Given the description of an element on the screen output the (x, y) to click on. 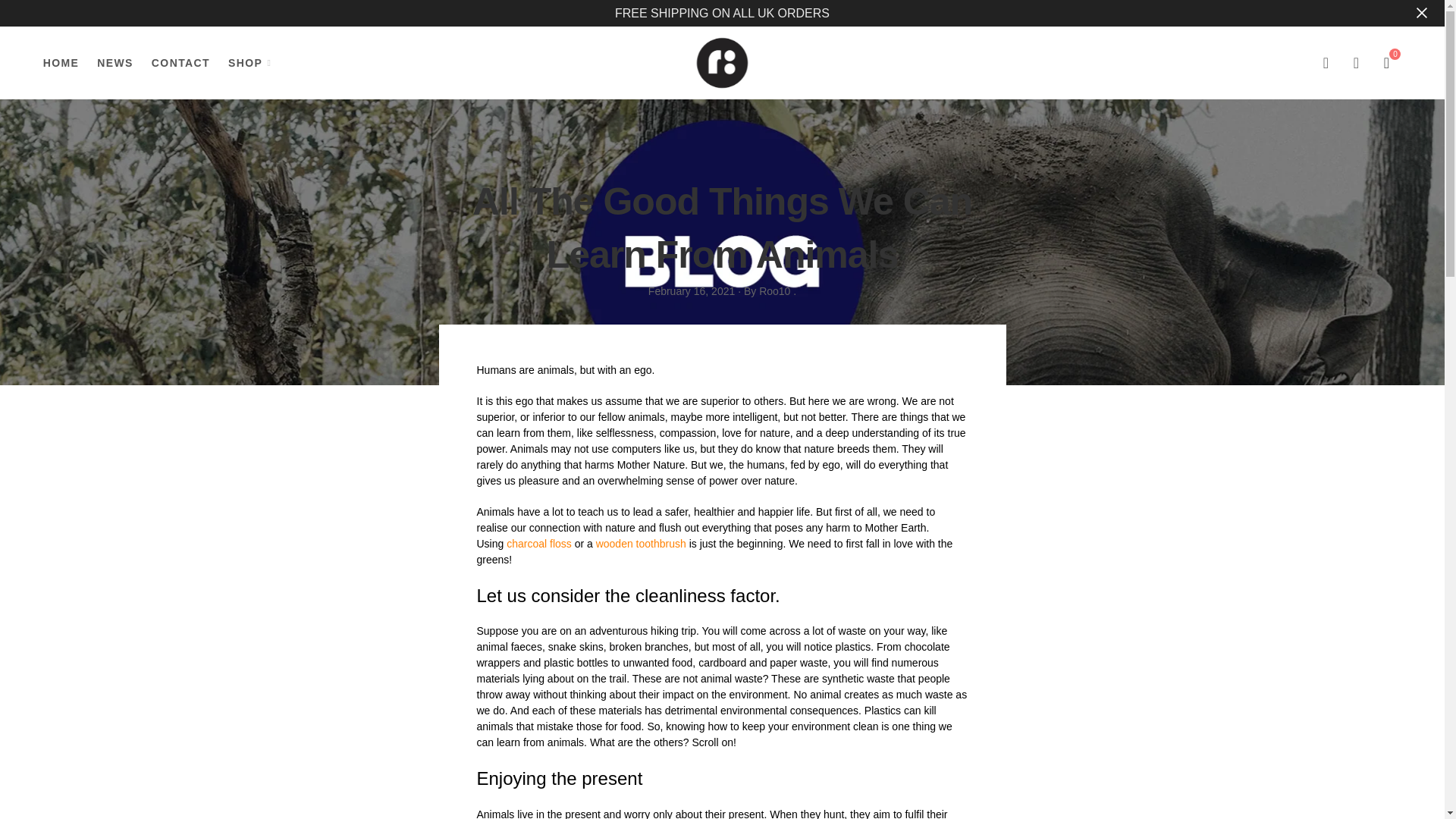
CONTACT (180, 63)
